Given the description of an element on the screen output the (x, y) to click on. 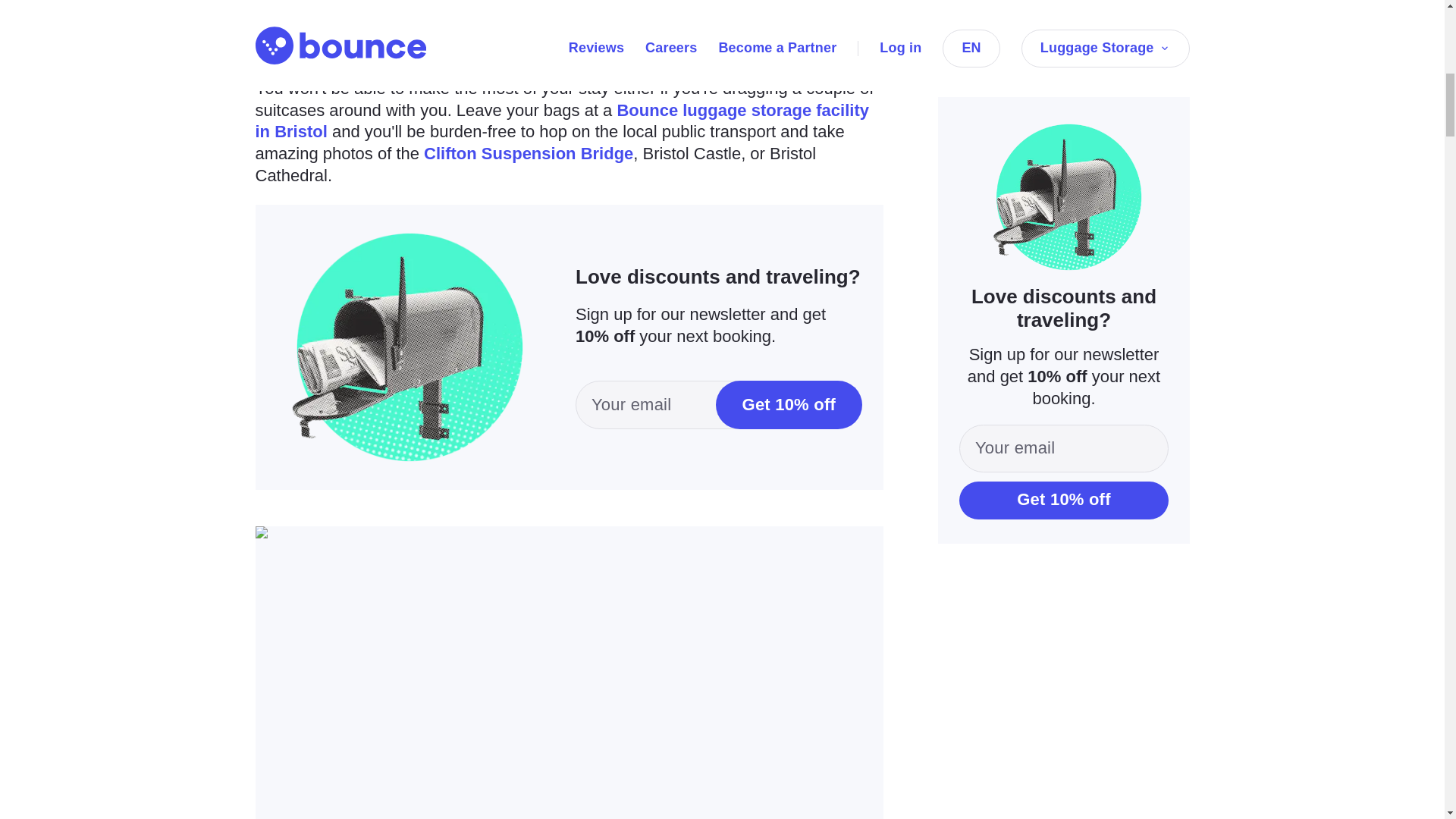
Bounce luggage storage facility in Bristol (560, 120)
getting around Bristol (538, 18)
Clifton Suspension Bridge (528, 153)
